Given the description of an element on the screen output the (x, y) to click on. 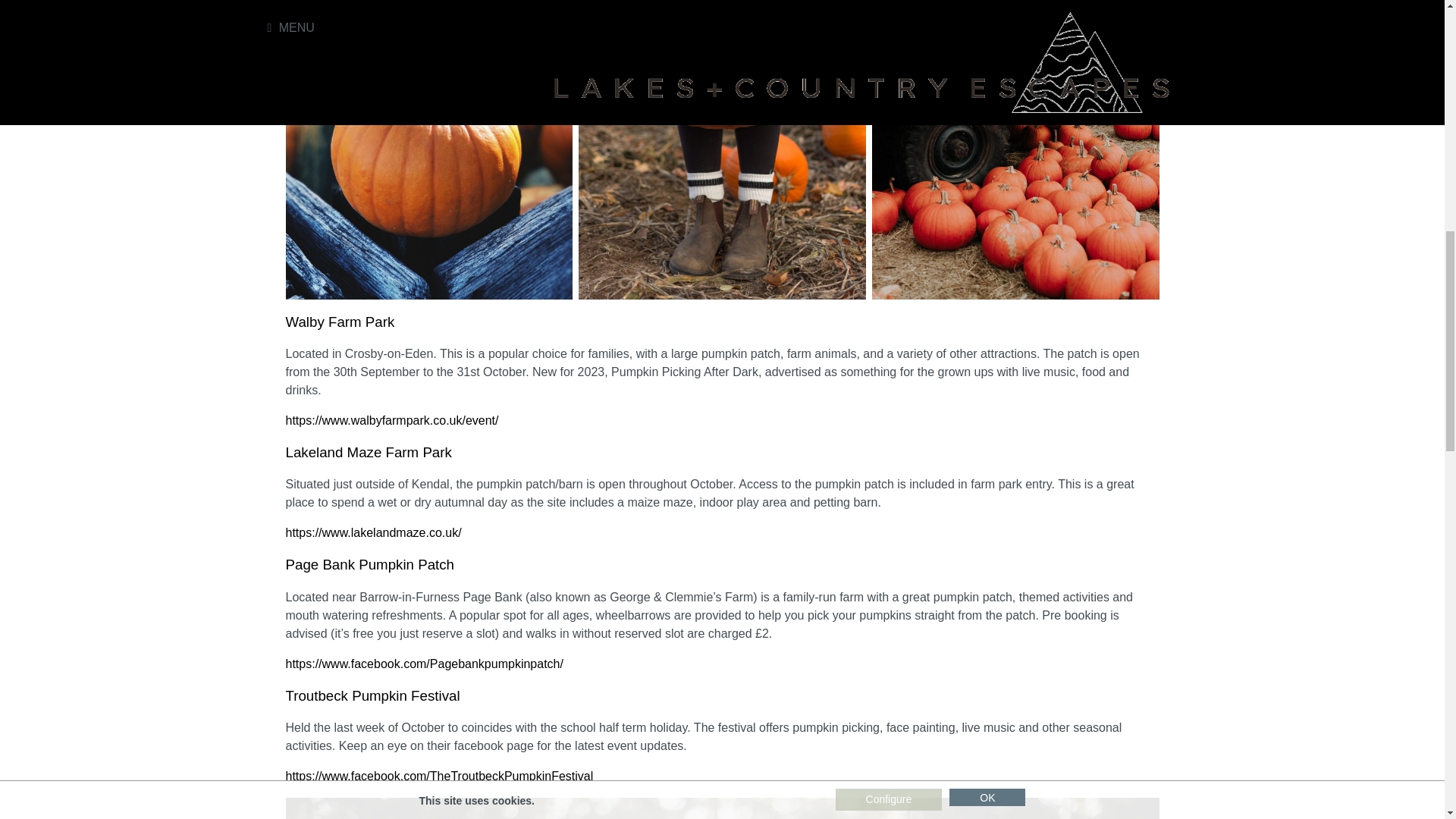
Walby Farm Park (339, 321)
Page Bank Pumpkin Patch (369, 564)
Lakeland Maze Farm Park (368, 452)
